Given the description of an element on the screen output the (x, y) to click on. 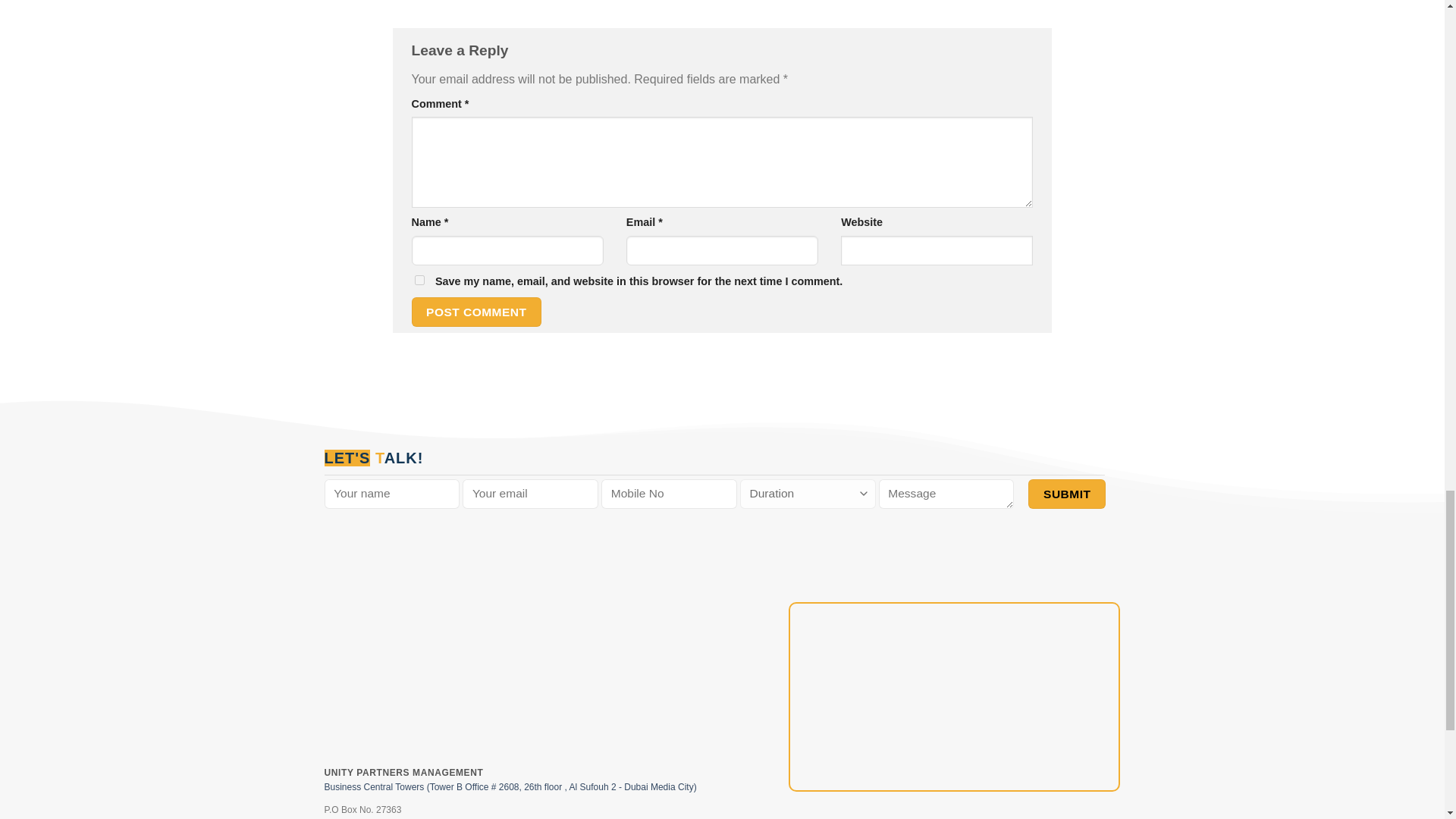
yes (418, 280)
Post Comment (475, 311)
Submit (1066, 493)
